Given the description of an element on the screen output the (x, y) to click on. 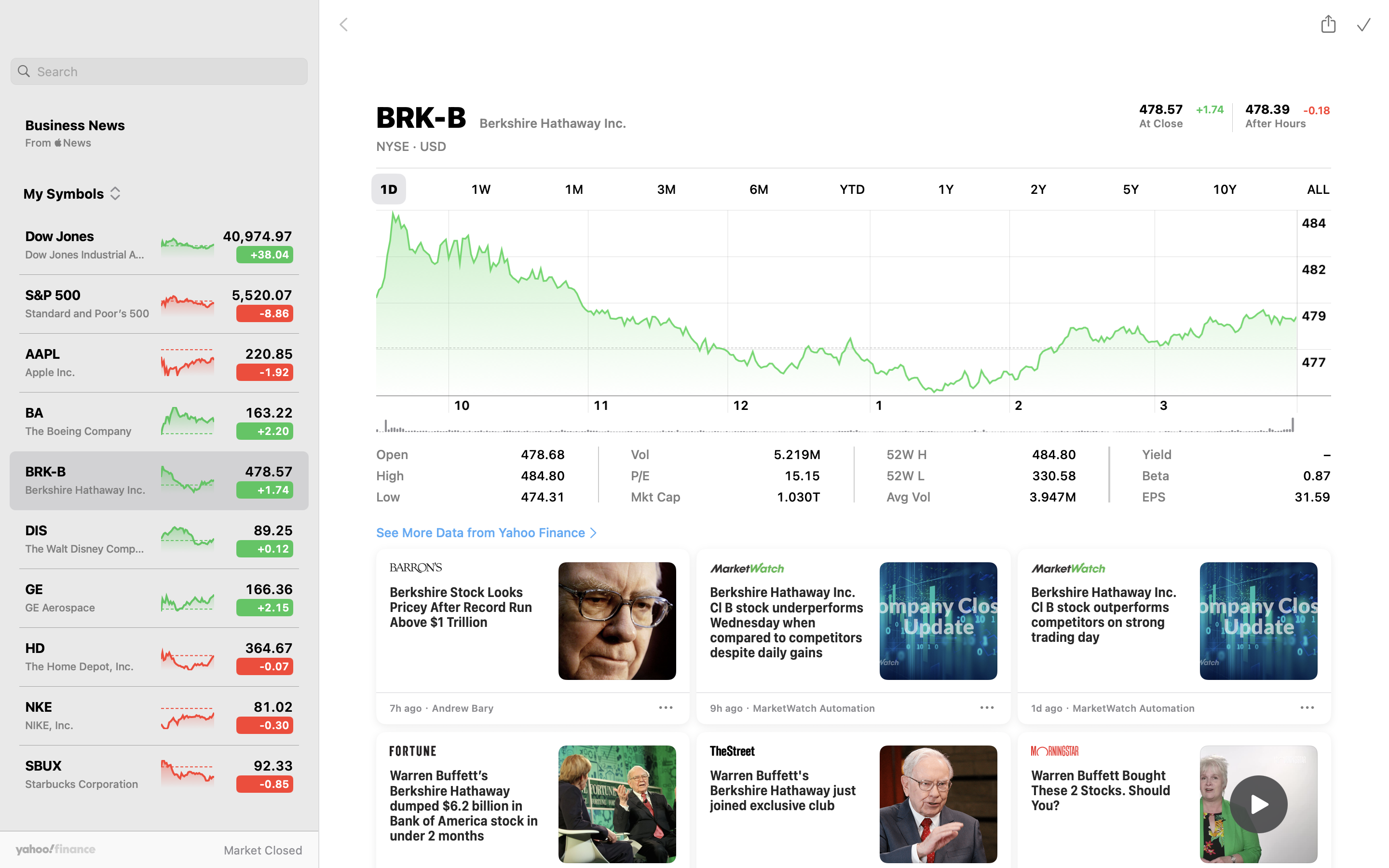
selected Element type: AXButton (388, 188)
478.39, change, down 0.18 points Element type: AXStaticText (1267, 108)
478.57, change, up 1.74 points Element type: AXStaticText (1161, 108)
